Given the description of an element on the screen output the (x, y) to click on. 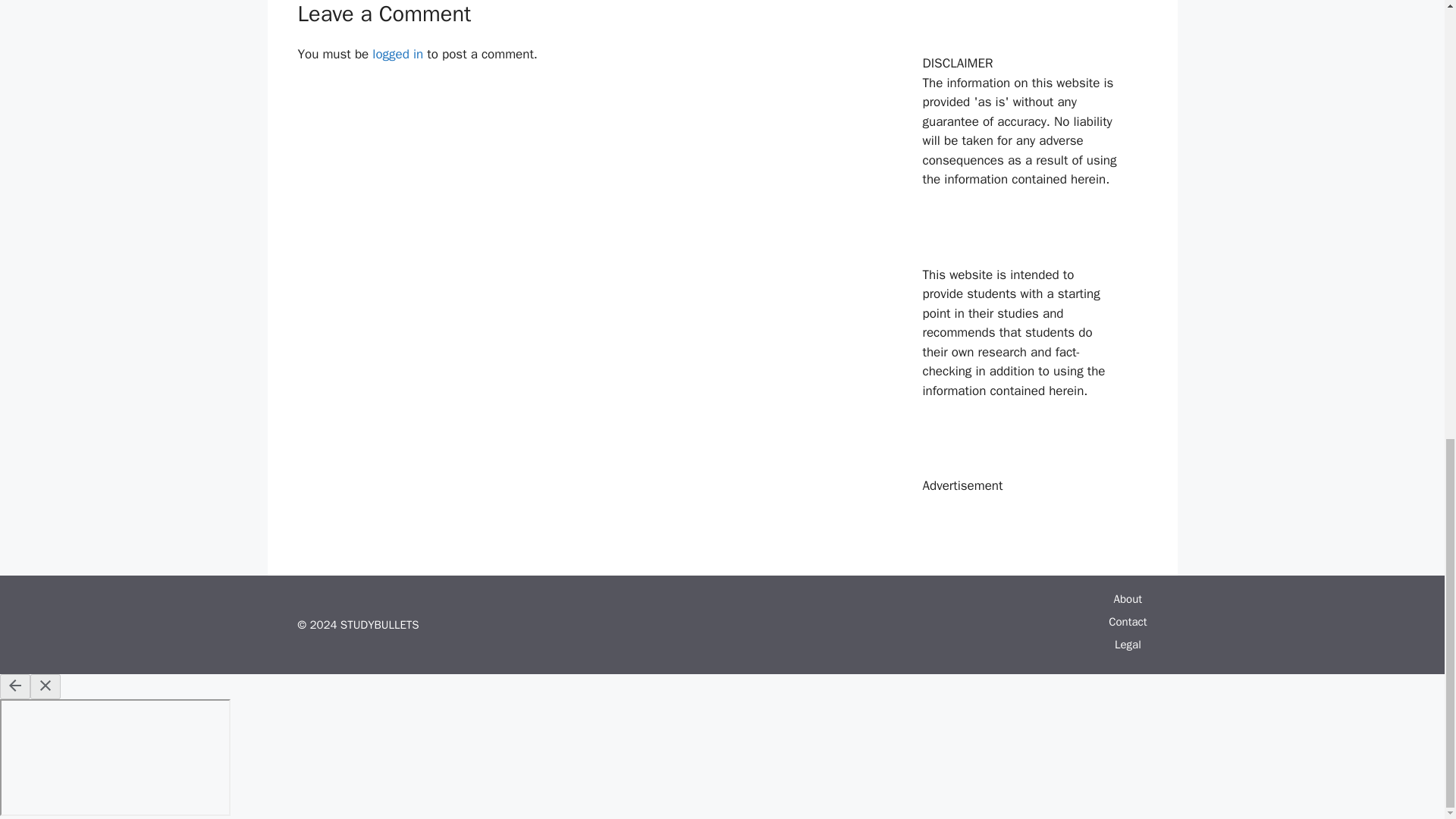
Contact (1127, 621)
logged in (397, 53)
About (1127, 599)
Legal (1128, 644)
